Given the description of an element on the screen output the (x, y) to click on. 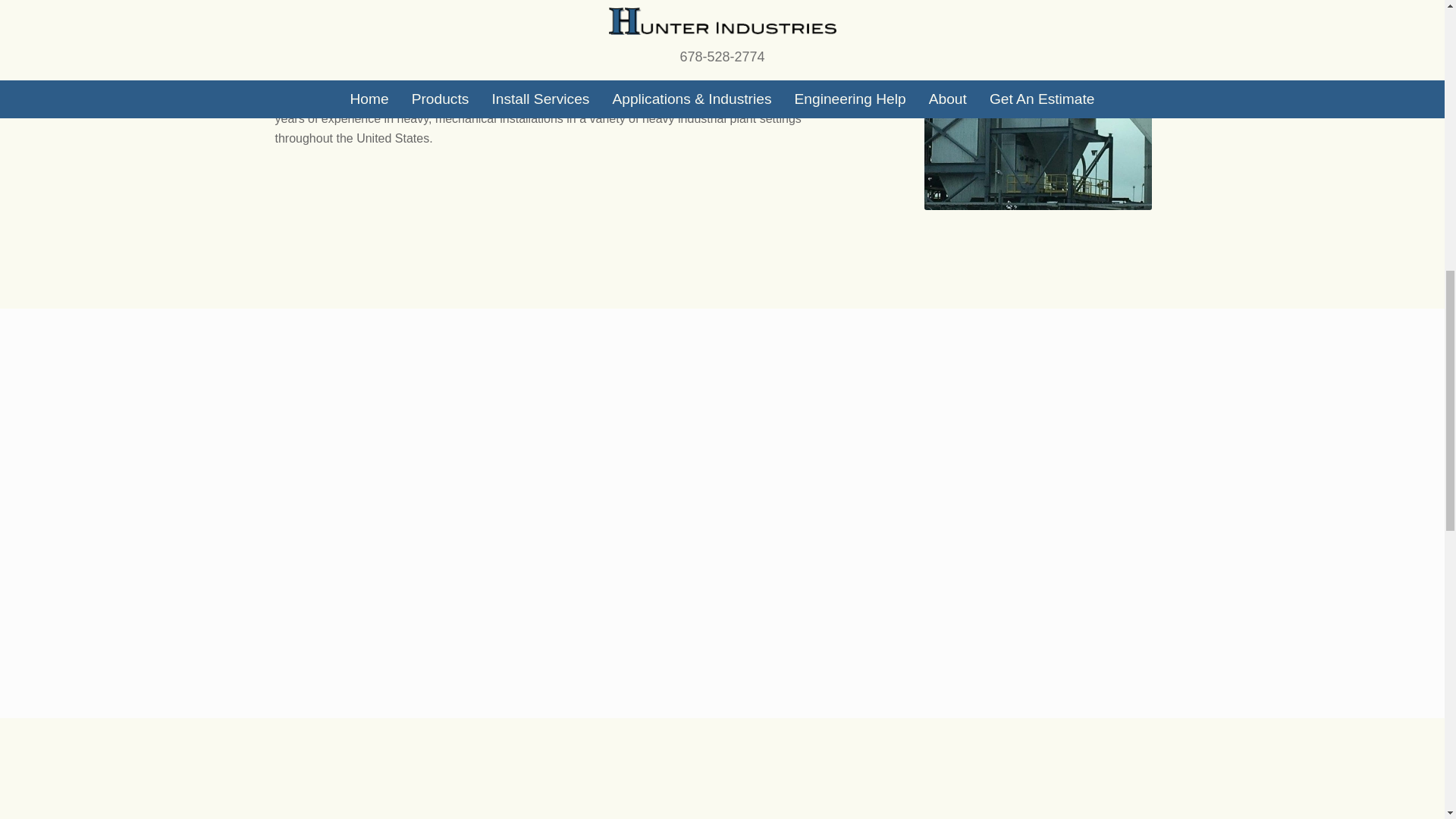
hunter-industries-050 (1037, 118)
